Given the description of an element on the screen output the (x, y) to click on. 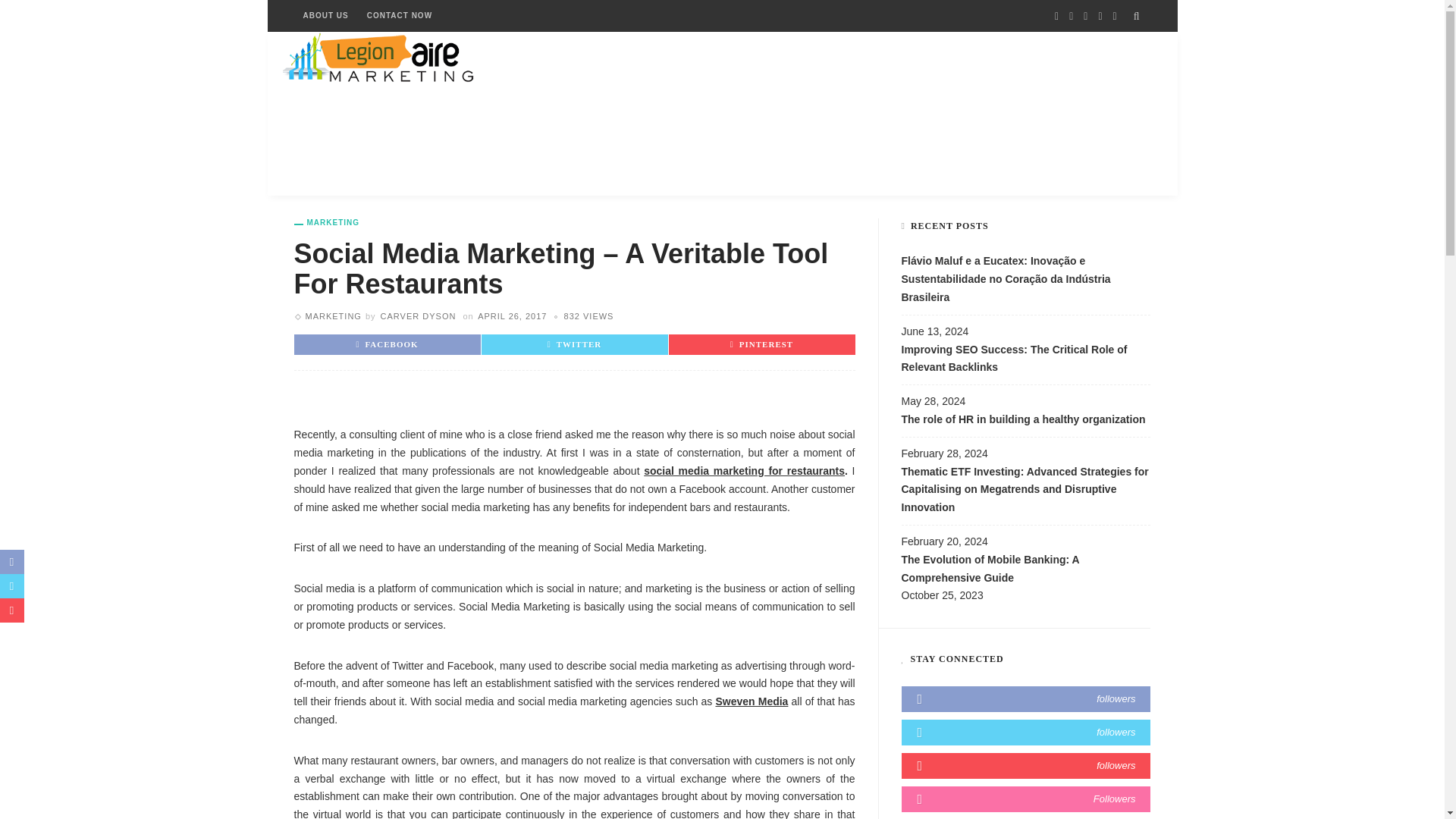
TWITTER (574, 343)
MARKETING (871, 113)
Search (1136, 15)
PRODUCATION (976, 113)
Twitter (1032, 167)
ADVERTISING (335, 113)
MARKETING (332, 316)
MANAGEMENT (766, 113)
MARKETING (326, 222)
BUSINESS EXPERTS (539, 113)
BUSINESS (430, 113)
ABOUT US (326, 15)
CARVER DYSON (418, 316)
PINTEREST (761, 343)
INVESTMENT (659, 113)
